Given the description of an element on the screen output the (x, y) to click on. 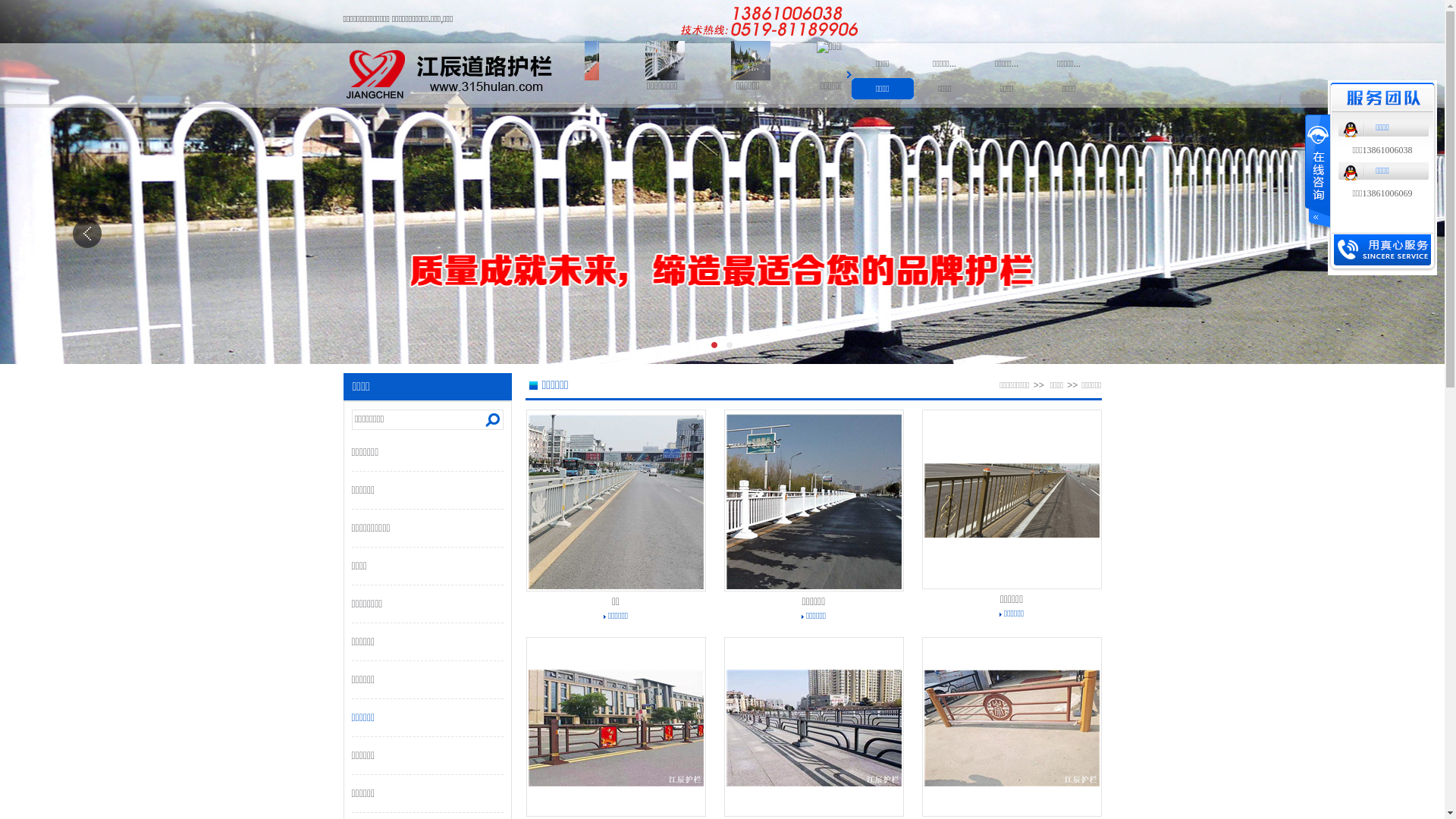
  Element type: text (1316, 172)
Logo Element type: hover (462, 73)
